Given the description of an element on the screen output the (x, y) to click on. 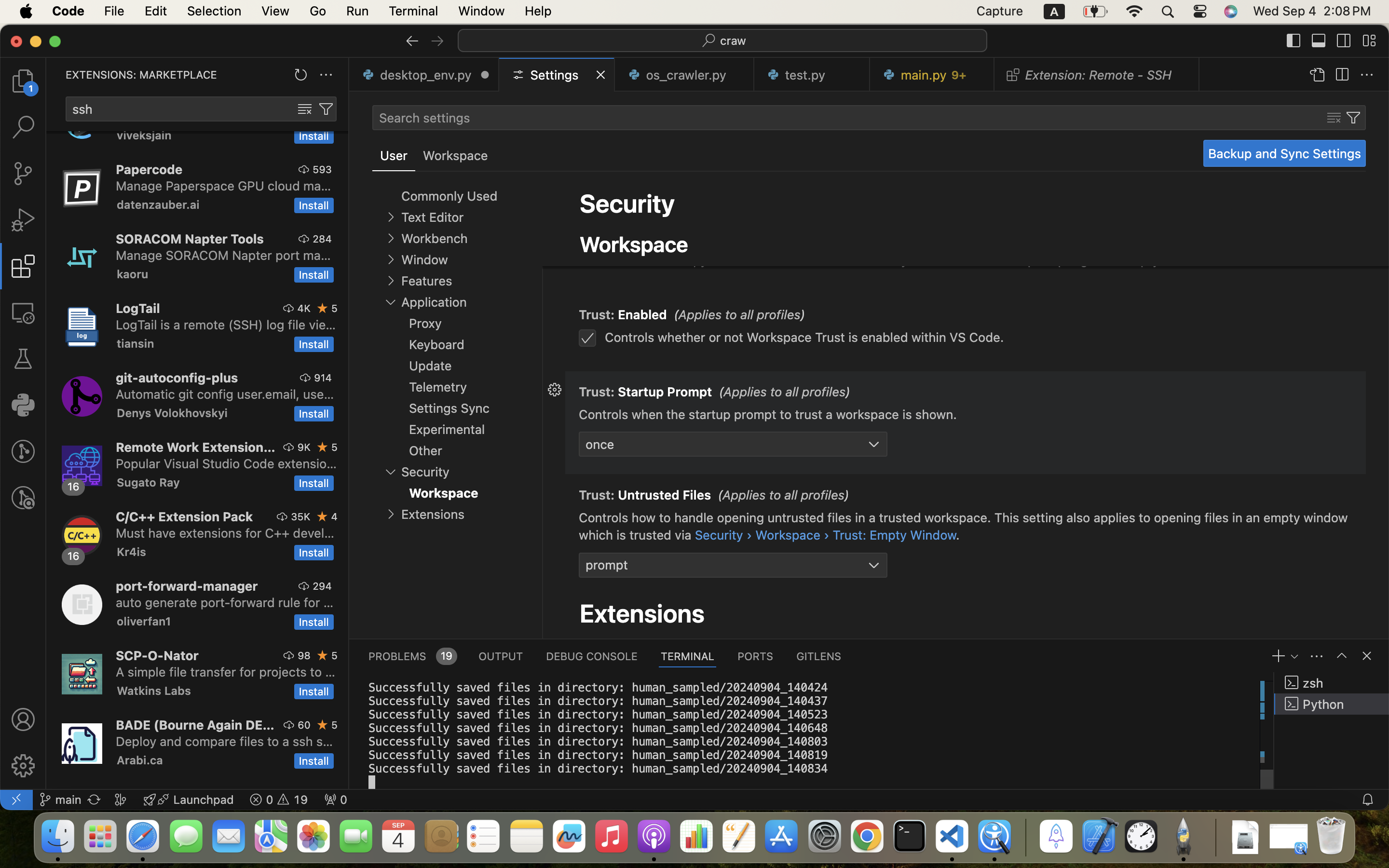
C/C++ Extension Pack Element type: AXStaticText (184, 516)
Features Element type: AXStaticText (426, 280)
Search settings Element type: AXStaticText (424, 117)
 Element type: AXCheckBox (1341, 655)
0 PROBLEMS 19 Element type: AXRadioButton (411, 655)
